Given the description of an element on the screen output the (x, y) to click on. 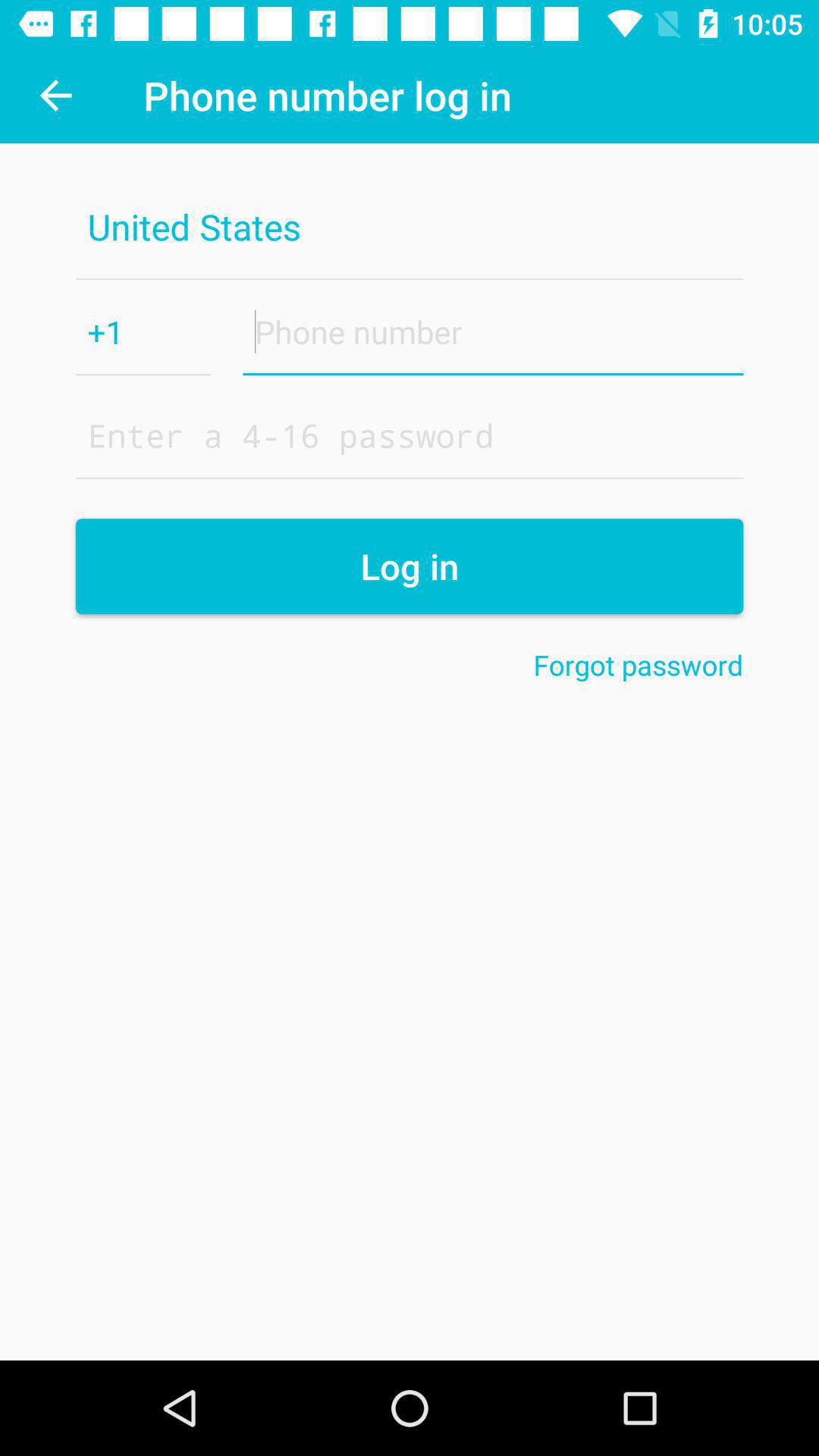
turn off the icon above the united states (55, 95)
